Given the description of an element on the screen output the (x, y) to click on. 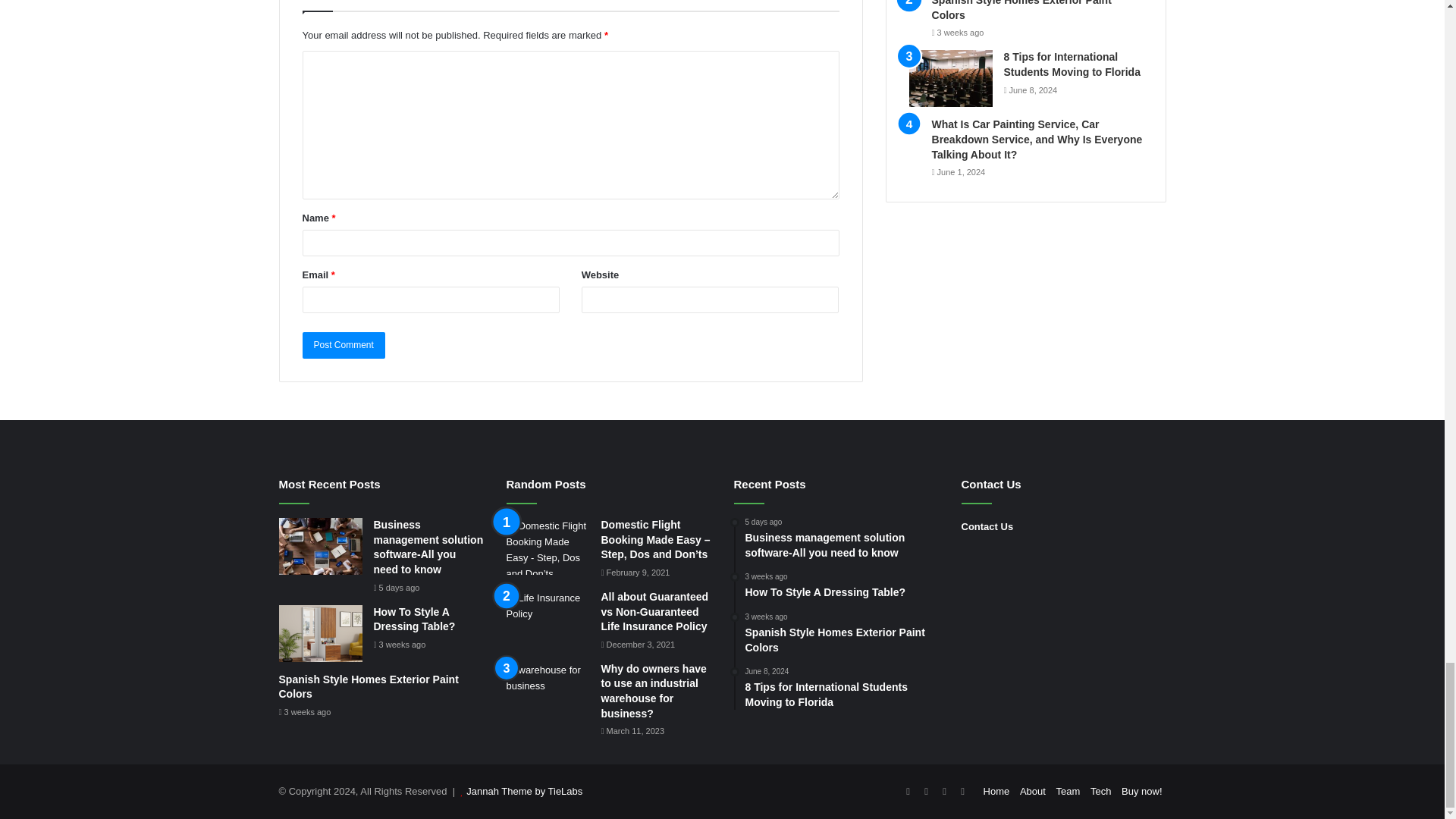
Post Comment (342, 345)
